Given the description of an element on the screen output the (x, y) to click on. 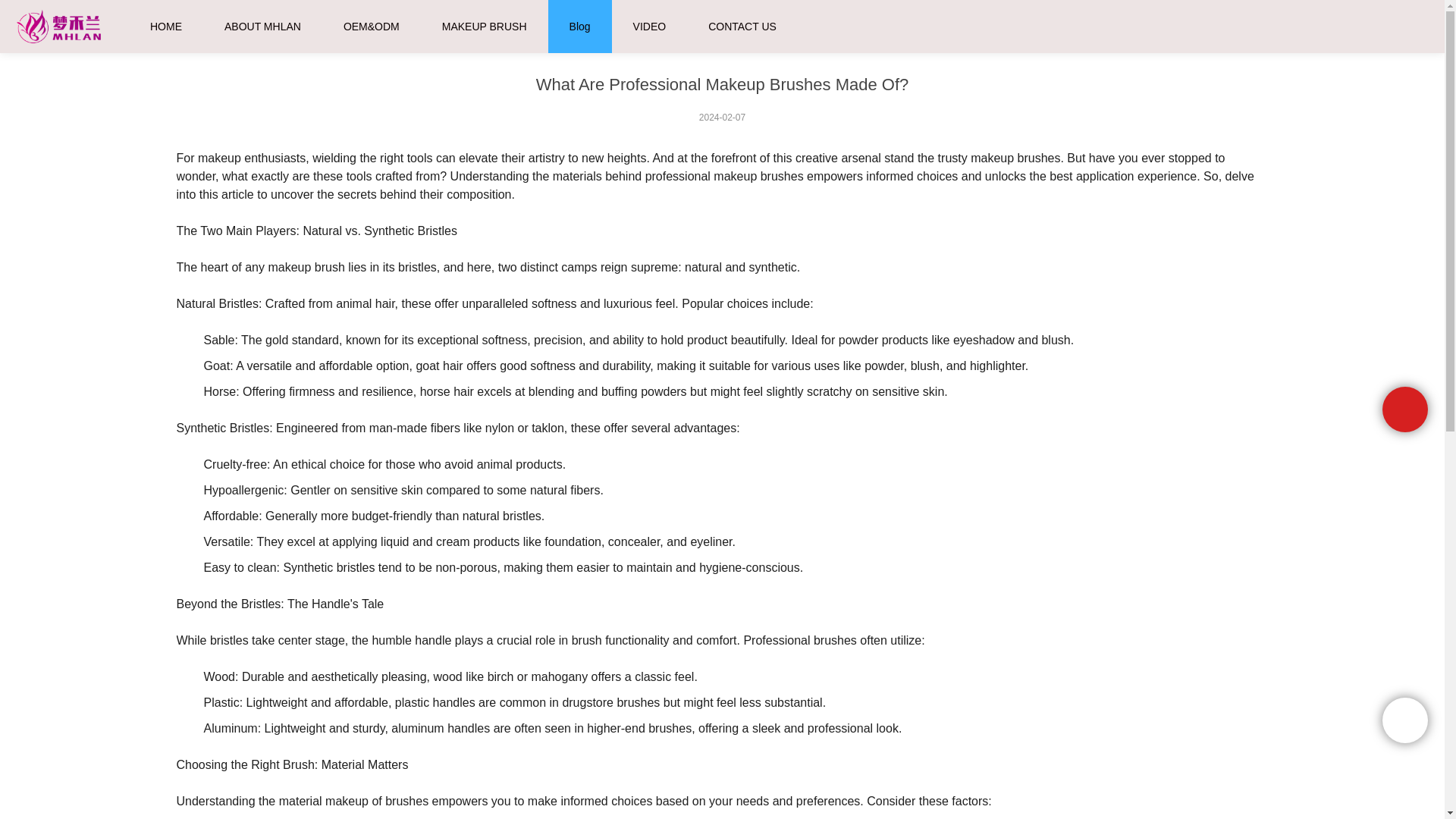
MAKEUP BRUSH (484, 26)
ABOUT MHLAN (262, 26)
Home (959, 19)
CONTACT US (741, 26)
Blog (580, 26)
Blog (1003, 19)
HOME (165, 26)
VIDEO (649, 26)
